Given the description of an element on the screen output the (x, y) to click on. 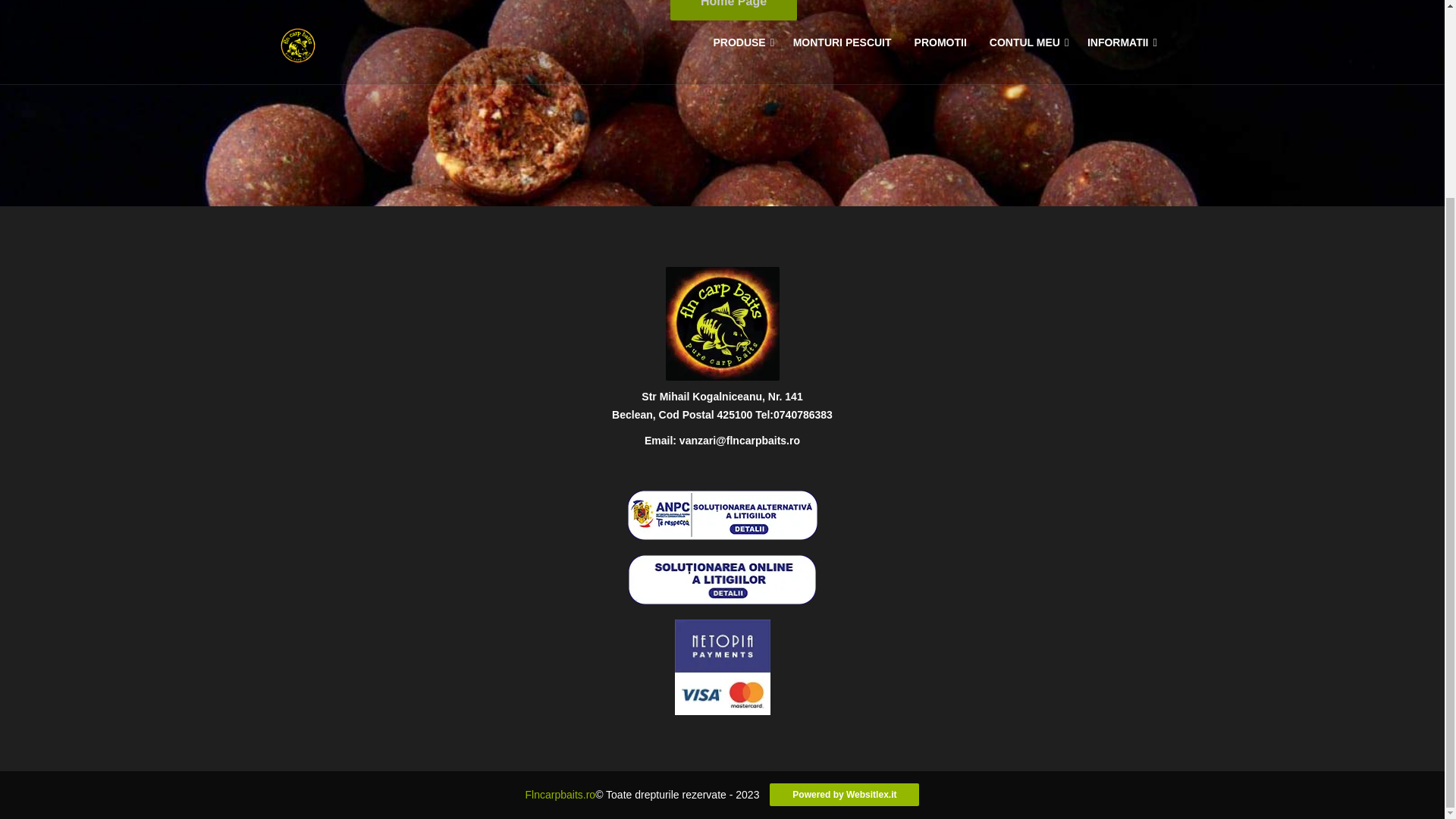
Flncarpbaits.ro (560, 794)
Powered by Websitlex.it (844, 793)
Home Page (732, 10)
